Given the description of an element on the screen output the (x, y) to click on. 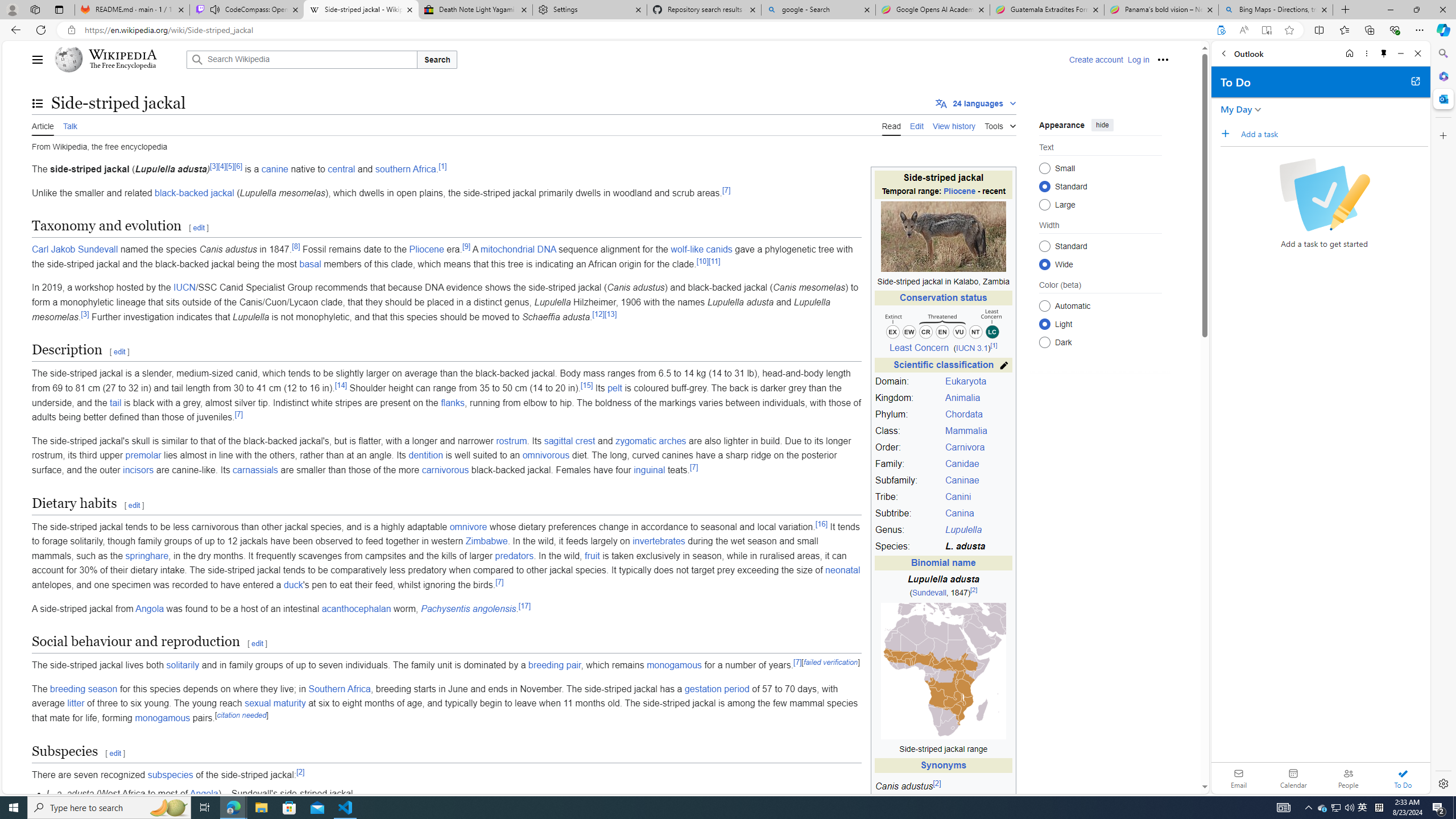
Canini (977, 497)
Log in (1137, 58)
Genus: (908, 530)
Eukaryota (977, 381)
[14] (340, 384)
My Day (1236, 109)
Tribe: (908, 497)
subspecies (170, 774)
